Given the description of an element on the screen output the (x, y) to click on. 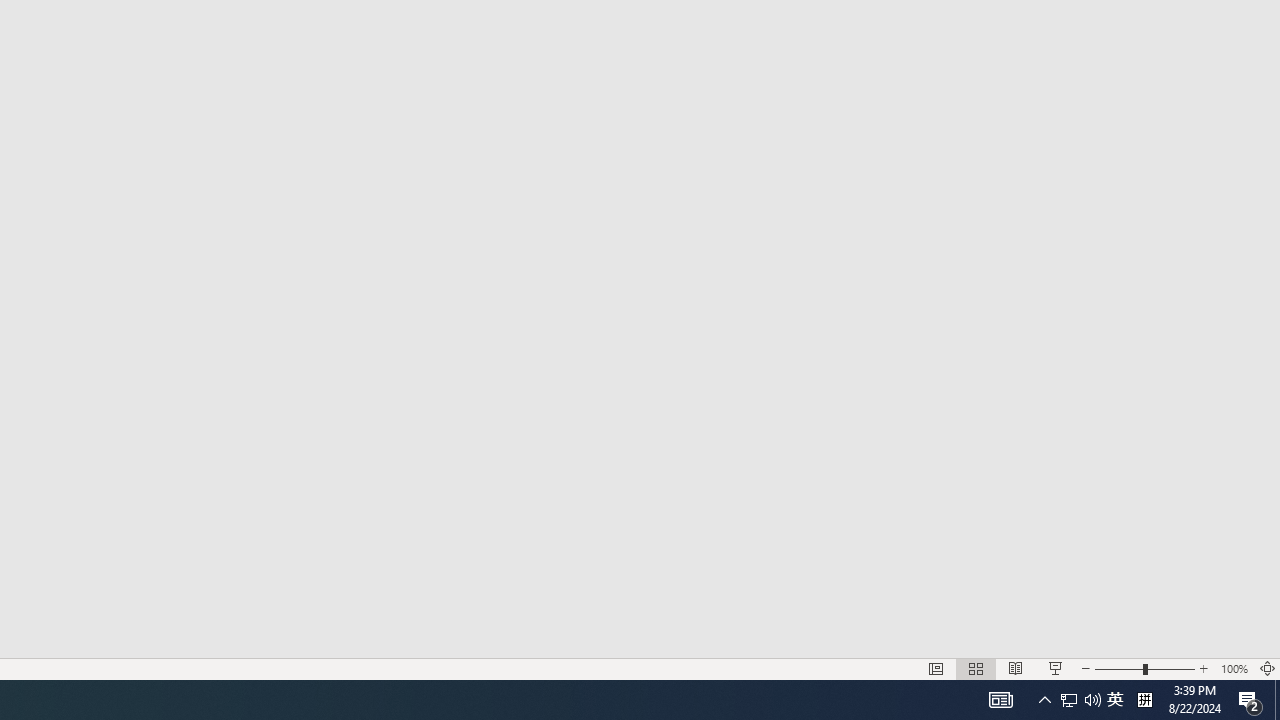
Zoom 100% (1234, 668)
